Given the description of an element on the screen output the (x, y) to click on. 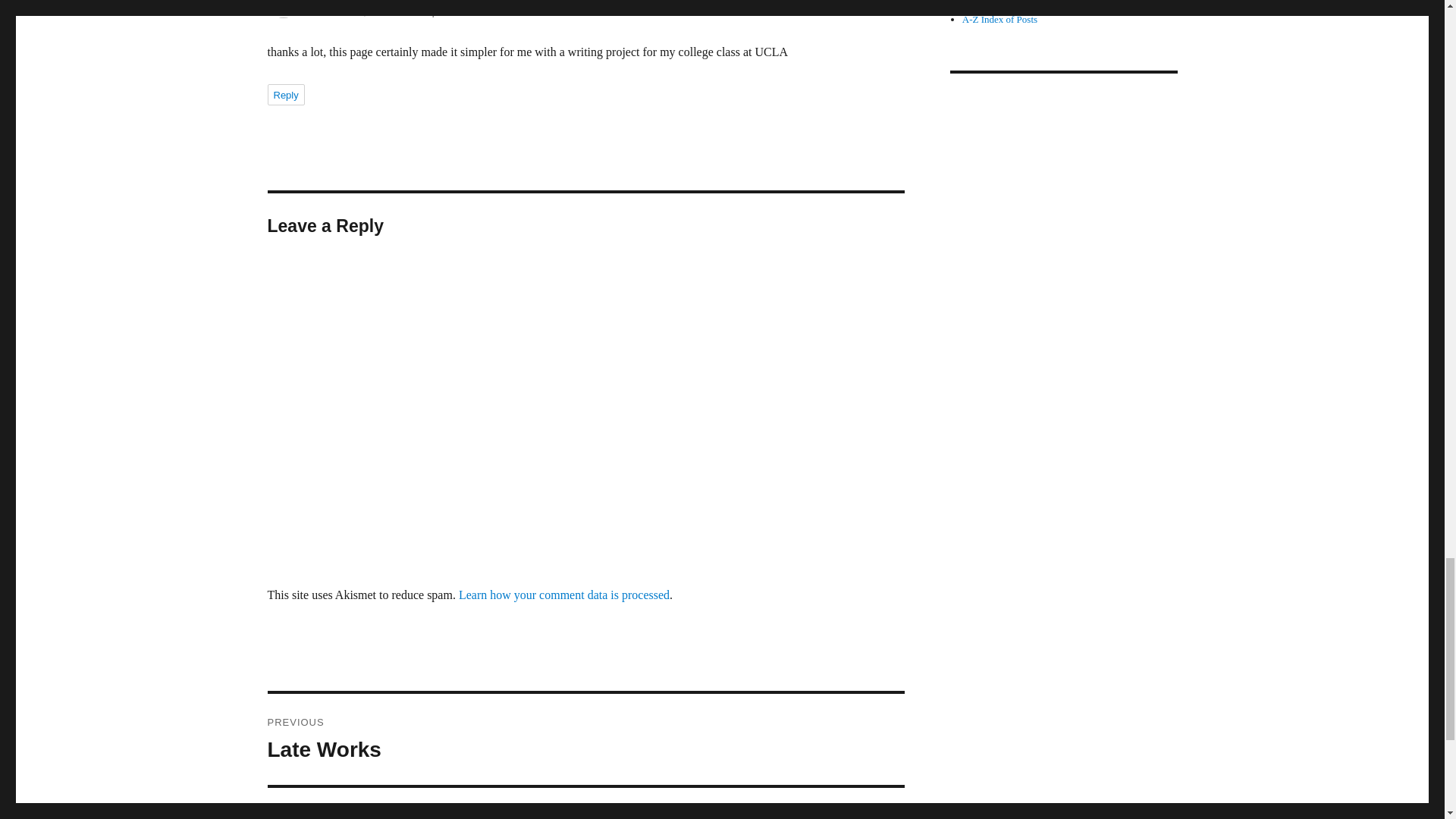
Learn how your comment data is processed (563, 594)
Comment Form (585, 738)
Reply (376, 11)
